Given the description of an element on the screen output the (x, y) to click on. 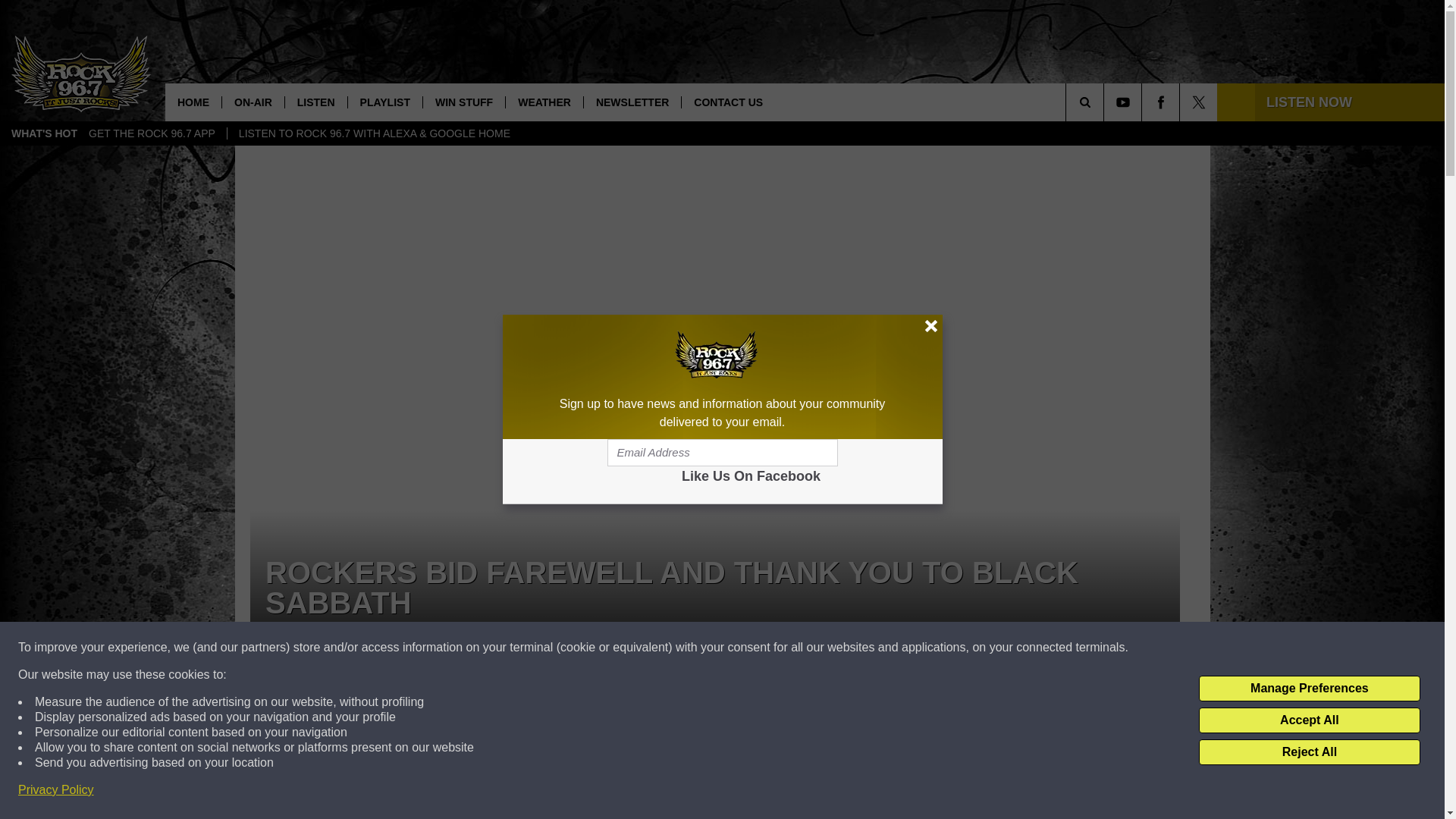
Manage Preferences (1309, 688)
Share on Twitter (912, 724)
Privacy Policy (55, 789)
HOME (193, 102)
ON-AIR (252, 102)
Reject All (1309, 751)
Share on Facebook (517, 724)
WEATHER (544, 102)
NEWSLETTER (632, 102)
WIN STUFF (463, 102)
SEARCH (1106, 102)
CONTACT US (727, 102)
SEARCH (1106, 102)
PLAYLIST (384, 102)
GET THE ROCK 96.7 APP (152, 133)
